Given the description of an element on the screen output the (x, y) to click on. 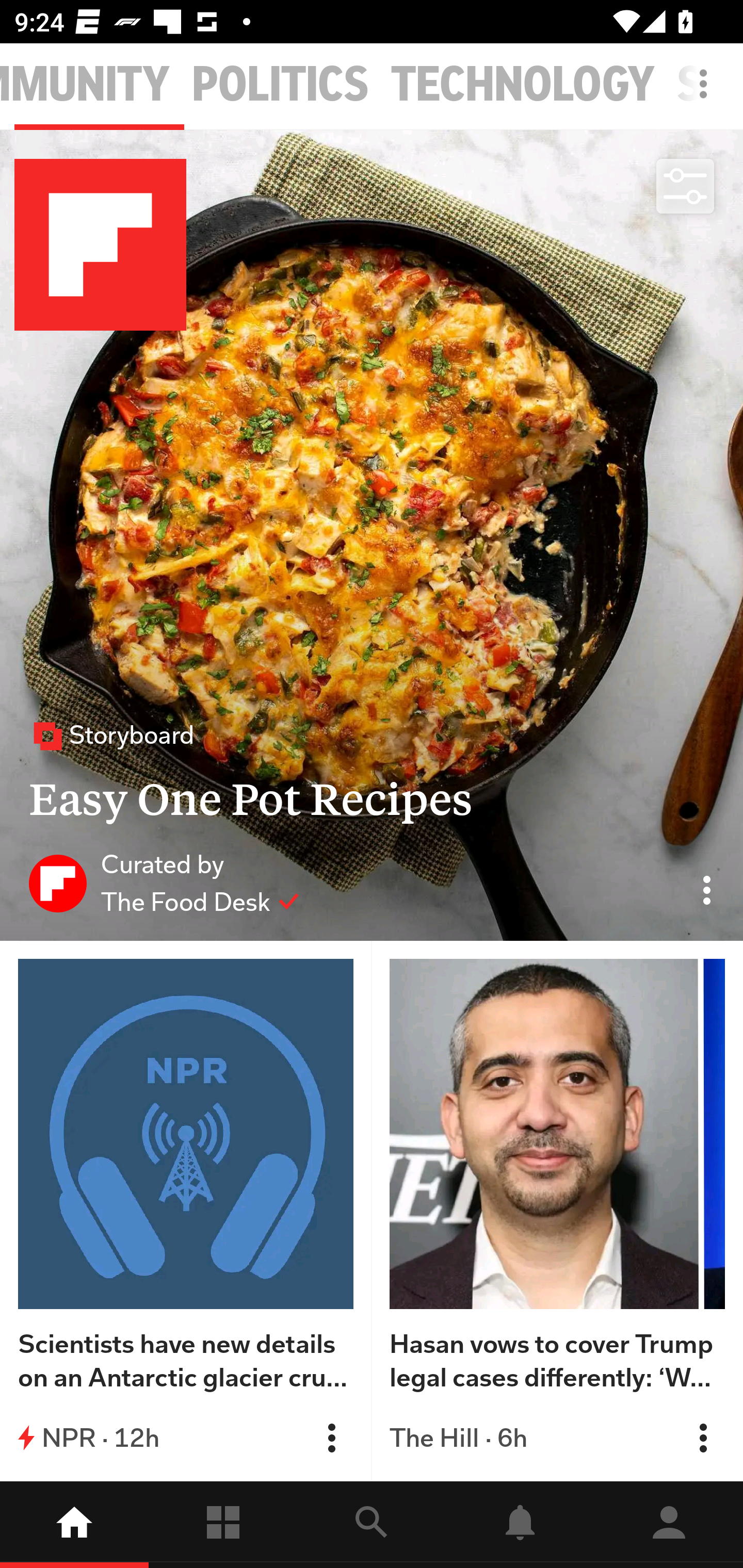
POLITICS (280, 84)
TECHNOLOGY (522, 84)
SPORTS (709, 84)
Curated by The Food Desk (163, 882)
NPR · 12h Flip into Magazine (185, 1437)
The Hill · 6h Flip into Magazine (557, 1437)
Flip into Magazine (331, 1437)
Flip into Magazine (703, 1437)
home (74, 1524)
Following (222, 1524)
explore (371, 1524)
Notifications (519, 1524)
Profile (668, 1524)
